Given the description of an element on the screen output the (x, y) to click on. 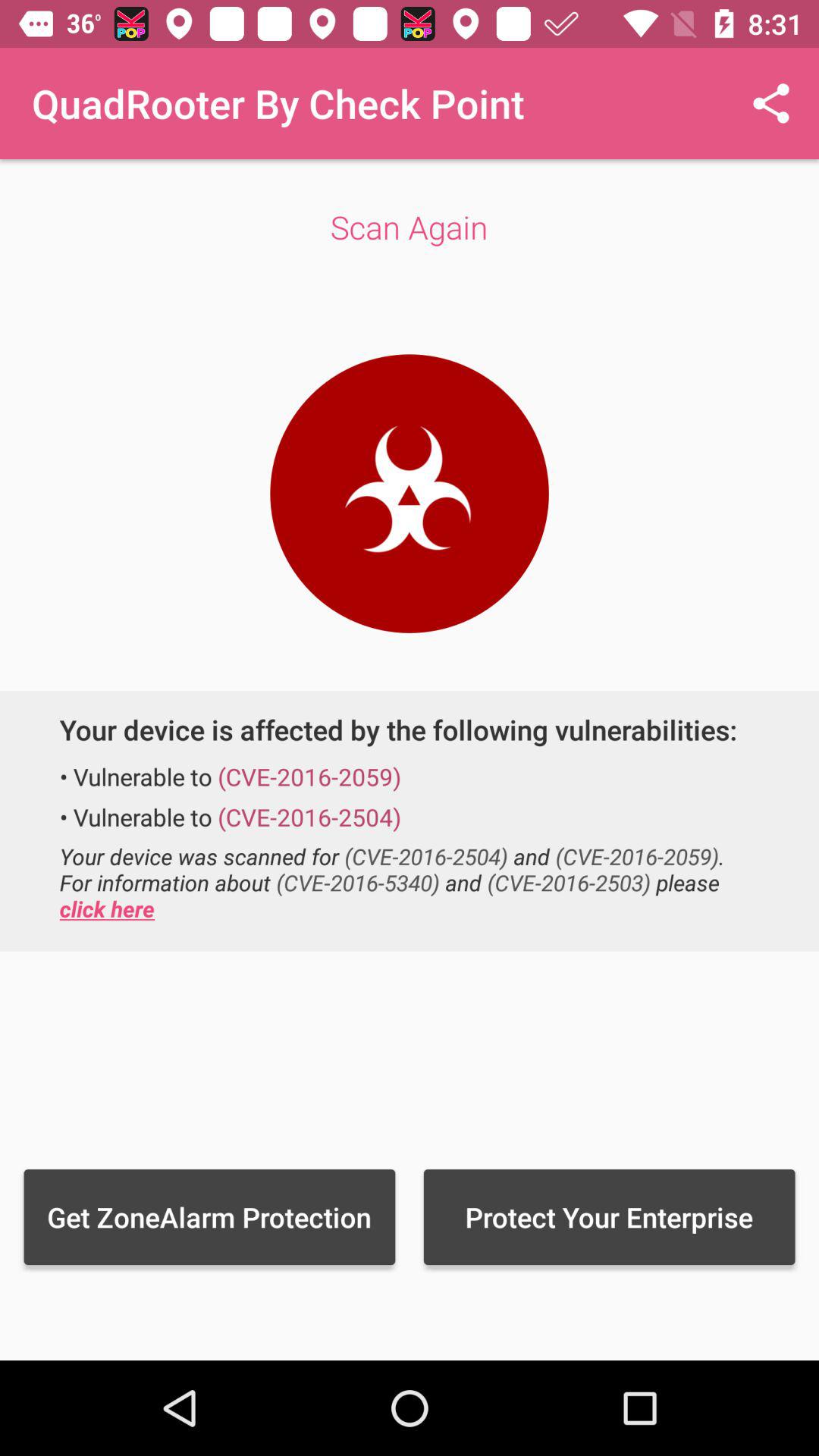
select the item to the right of the get zonealarm protection (609, 1216)
